Given the description of an element on the screen output the (x, y) to click on. 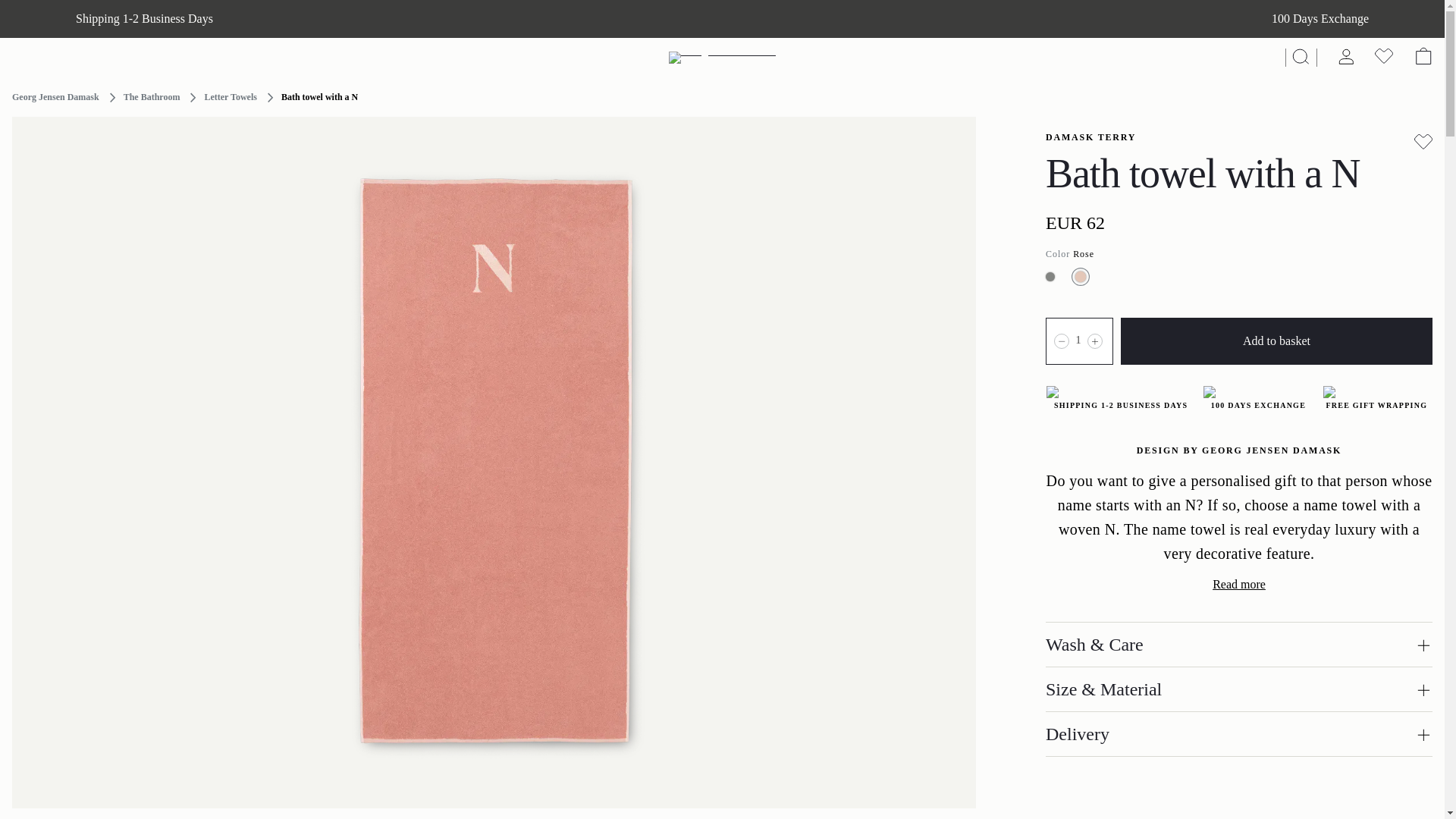
Georg Jensen Damask (55, 96)
The Bathroom (151, 96)
Rose (1079, 275)
Delivery (1238, 733)
Read more (1238, 584)
Letter Towels (229, 96)
Add to basket (1276, 340)
Grey (1049, 276)
